Given the description of an element on the screen output the (x, y) to click on. 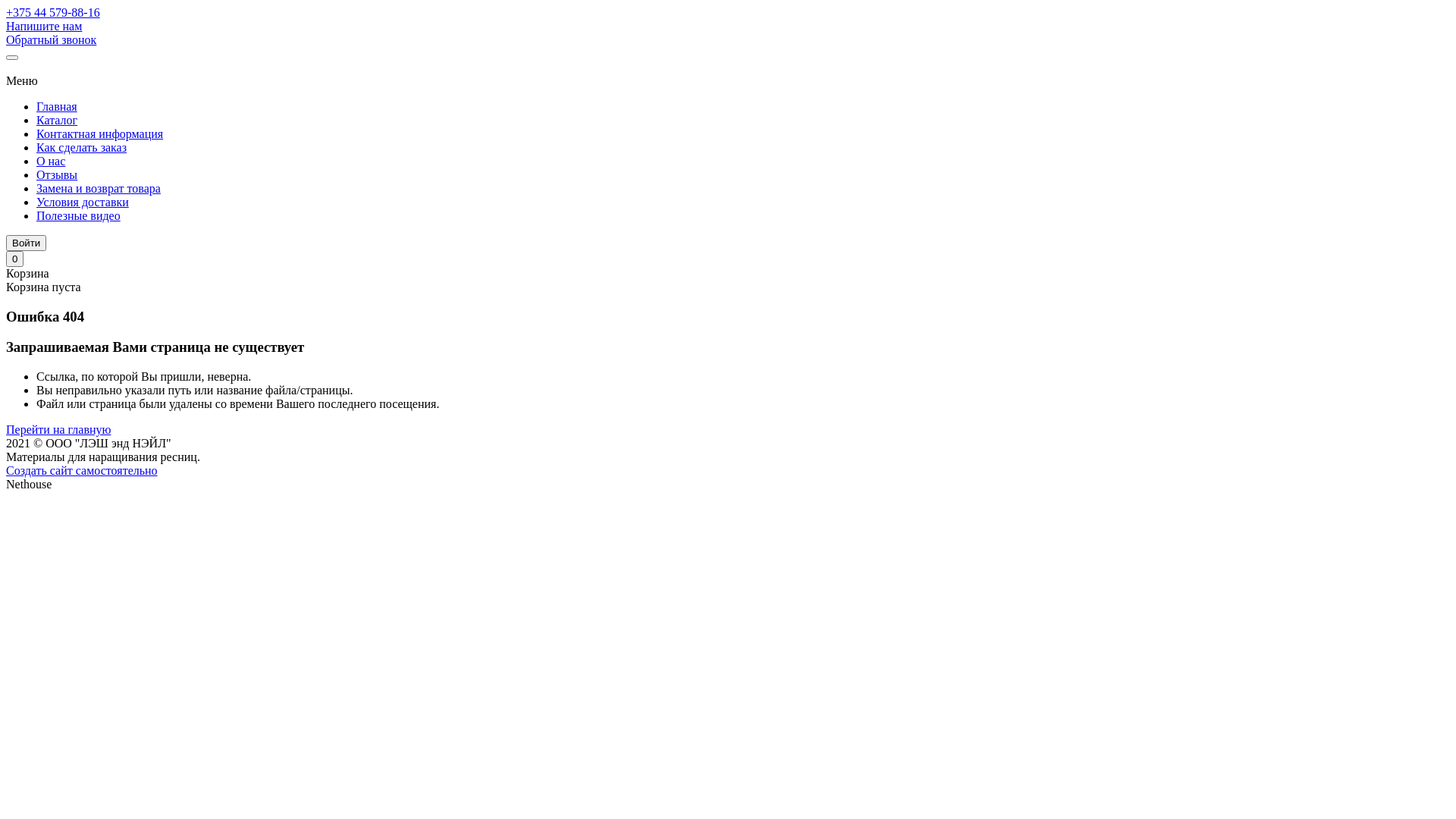
0 Element type: text (14, 258)
+375 44 579-88-16 Element type: text (53, 12)
